Given the description of an element on the screen output the (x, y) to click on. 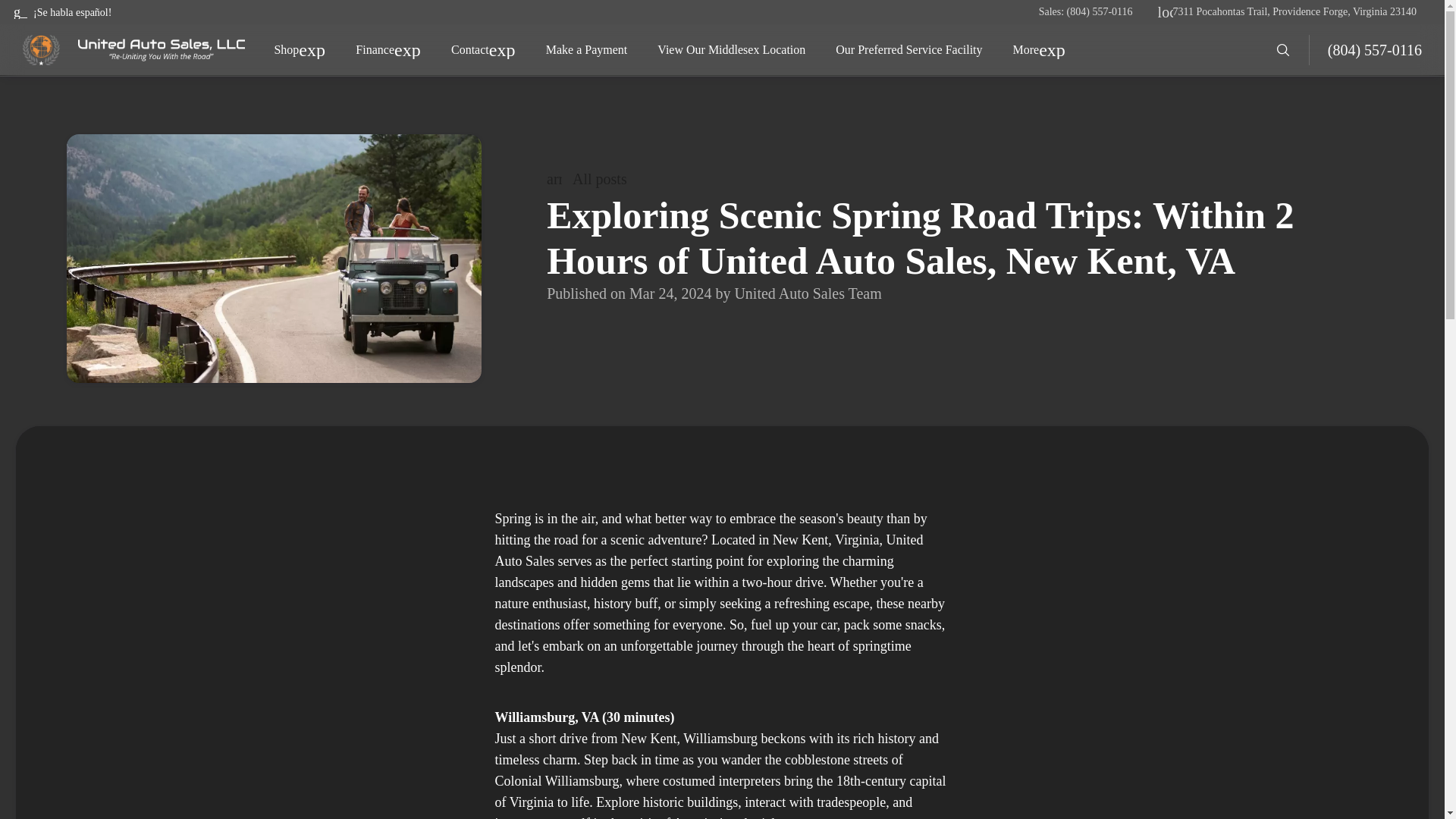
7311 Pocahontas Trail, Providence Forge, Virginia 23140 (1294, 11)
View Our Middlesex Location (731, 49)
All posts (962, 178)
Blog Cover Image (273, 258)
Make a Payment (587, 49)
Our Preferred Service Facility (909, 49)
All posts (590, 178)
